Given the description of an element on the screen output the (x, y) to click on. 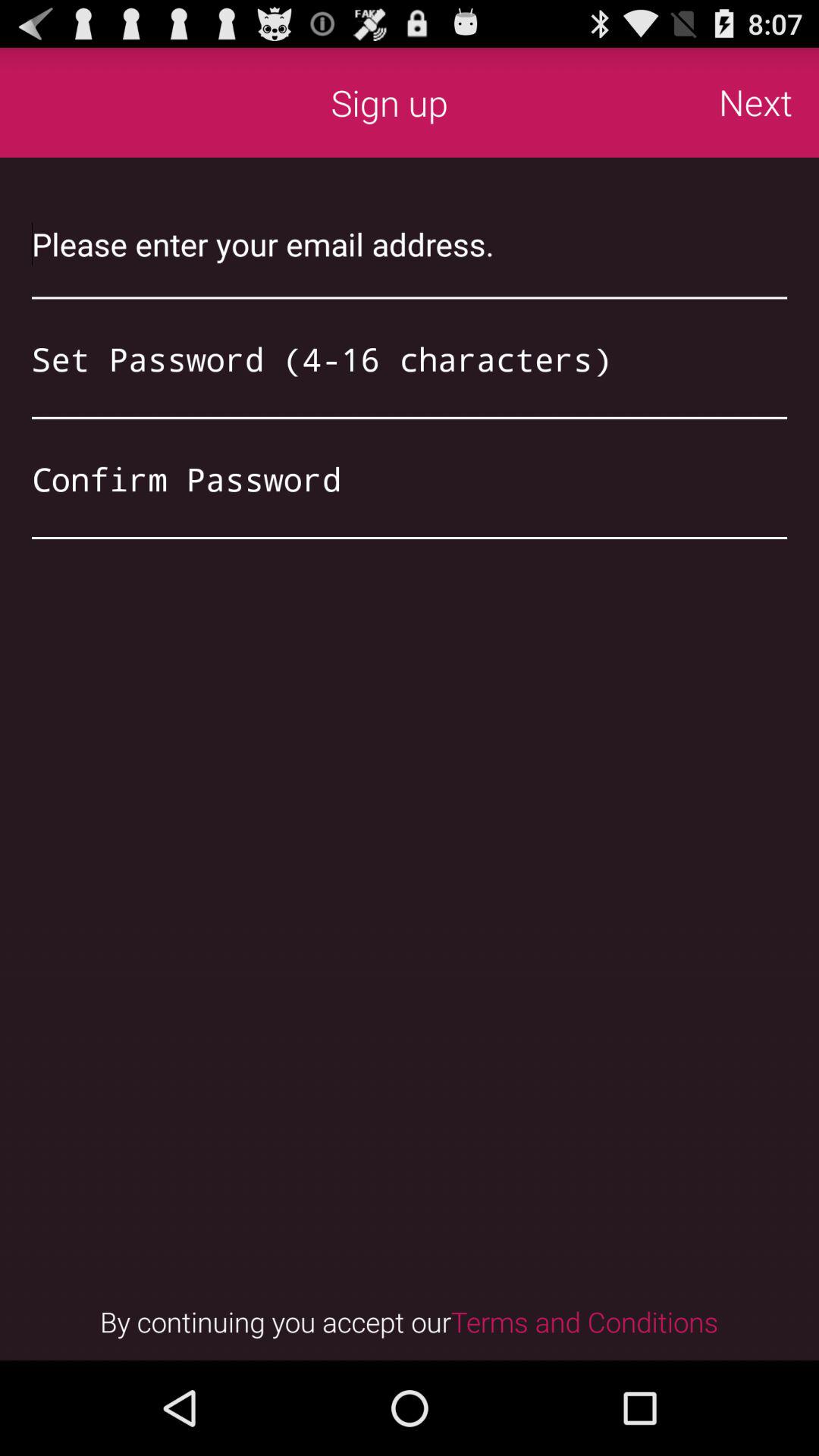
type password (409, 478)
